Given the description of an element on the screen output the (x, y) to click on. 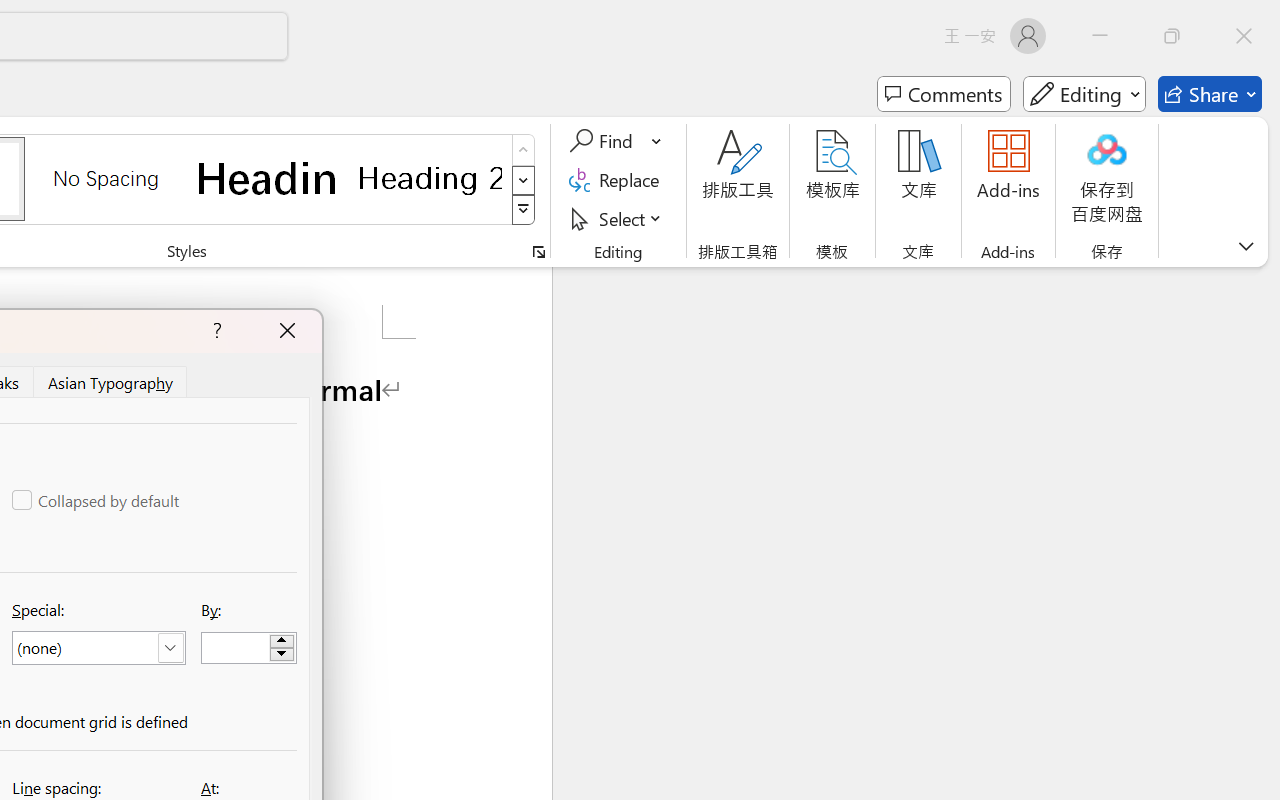
Heading 2 (429, 178)
By: (248, 648)
RichEdit Control (235, 647)
Styles (523, 209)
Select (618, 218)
